Given the description of an element on the screen output the (x, y) to click on. 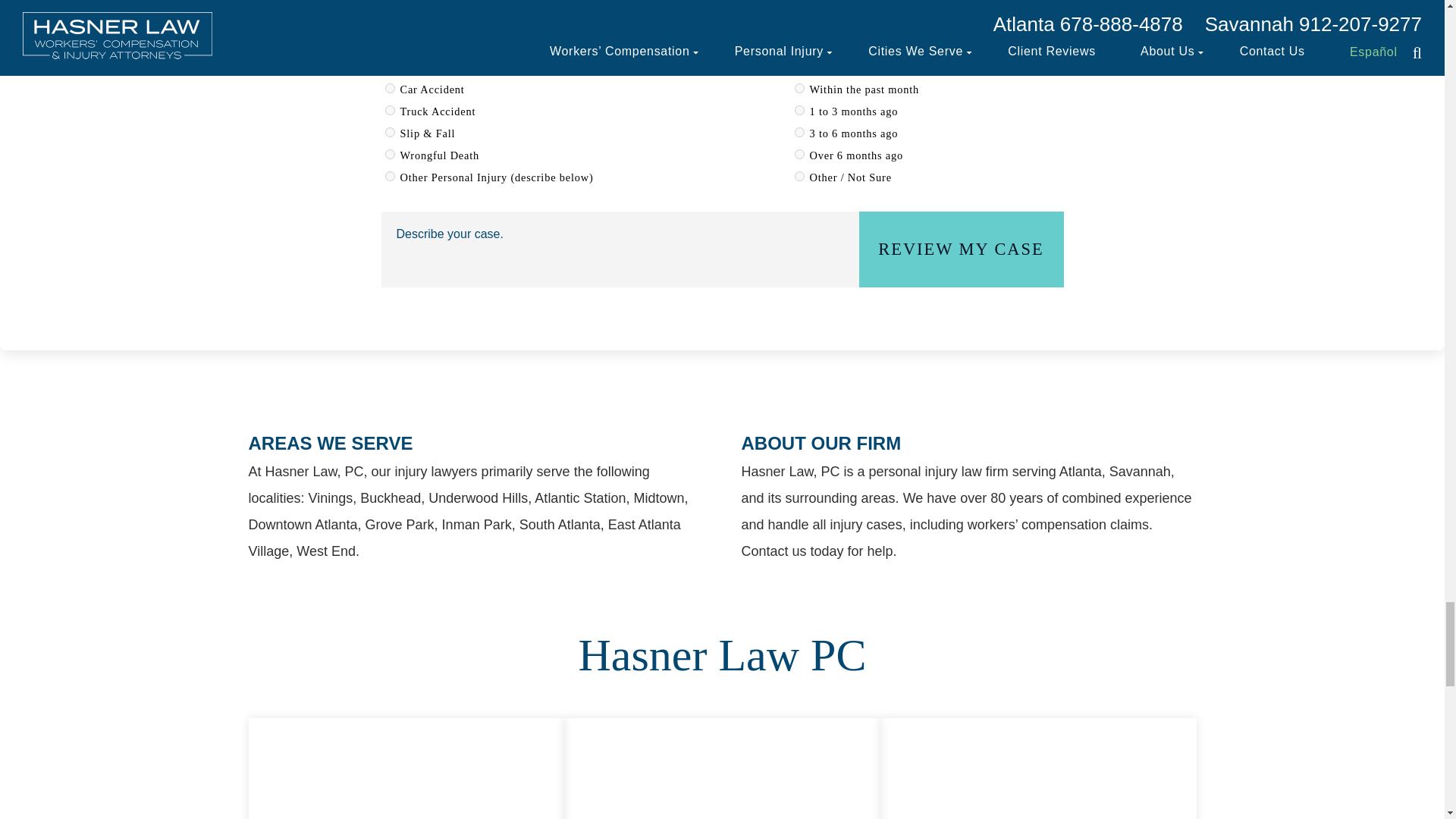
Truck Accident (389, 110)
Within the last week (799, 66)
location map (1038, 768)
Wrongful Death (389, 153)
Car Accident (389, 88)
location map (406, 768)
location map (722, 768)
